Given the description of an element on the screen output the (x, y) to click on. 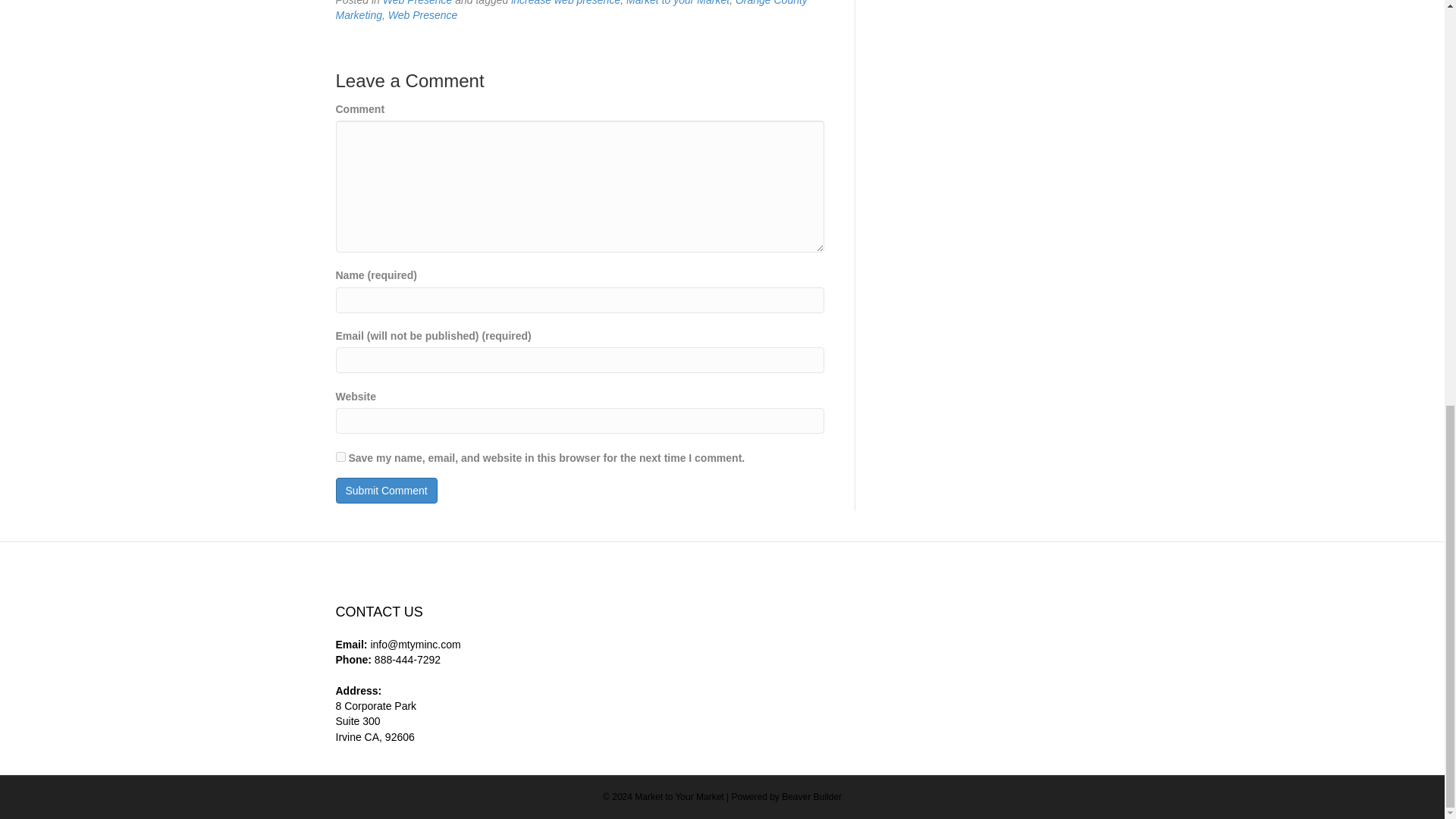
Market to your Market (677, 2)
Submit Comment (385, 490)
increase web presence (565, 2)
Web Presence (423, 15)
Orange County Marketing (570, 10)
Web Presence (417, 2)
Submit Comment (385, 490)
WordPress Page Builder Plugin (811, 796)
yes (339, 456)
